Given the description of an element on the screen output the (x, y) to click on. 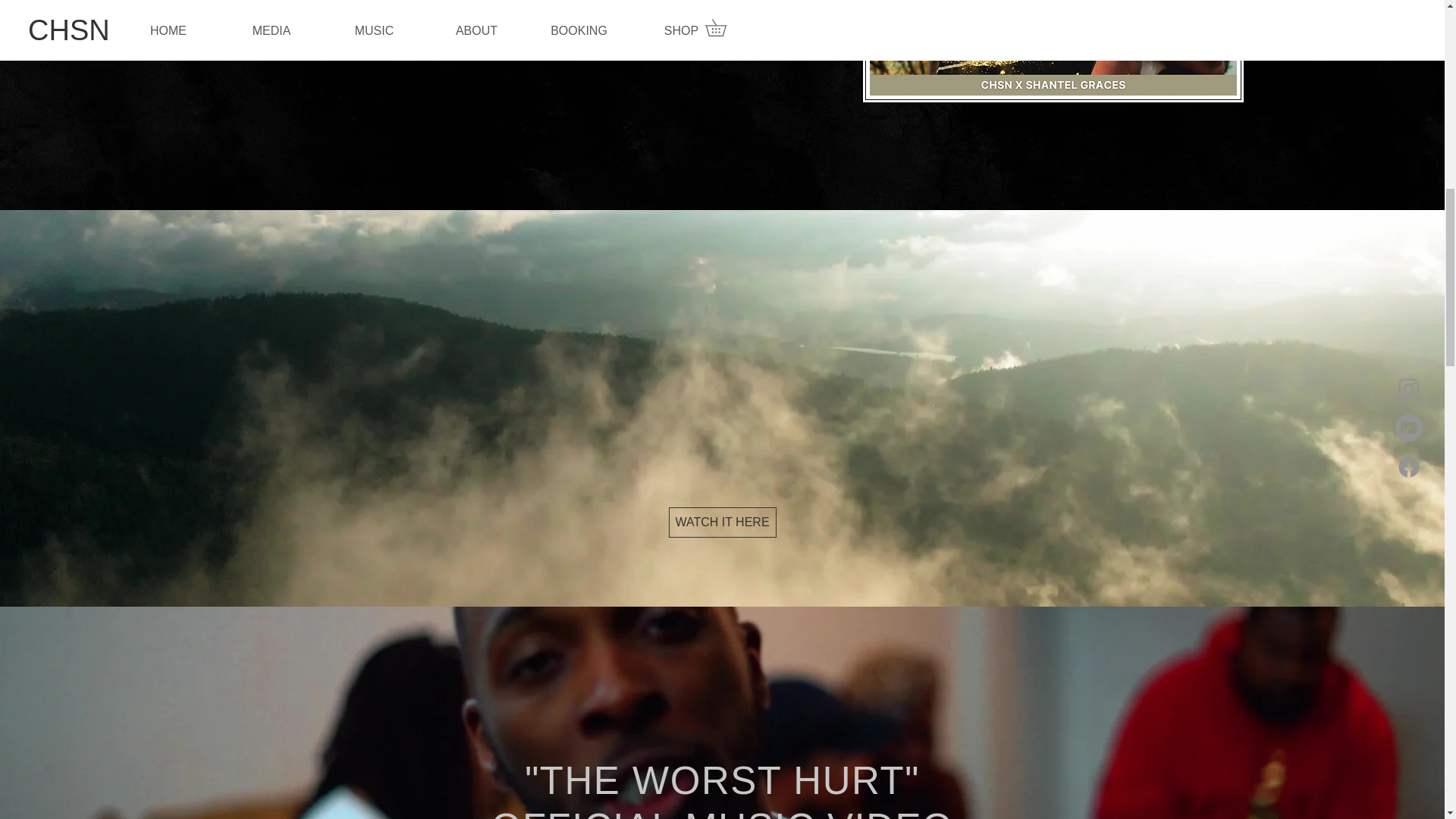
WATCH IT HERE (722, 521)
